Given the description of an element on the screen output the (x, y) to click on. 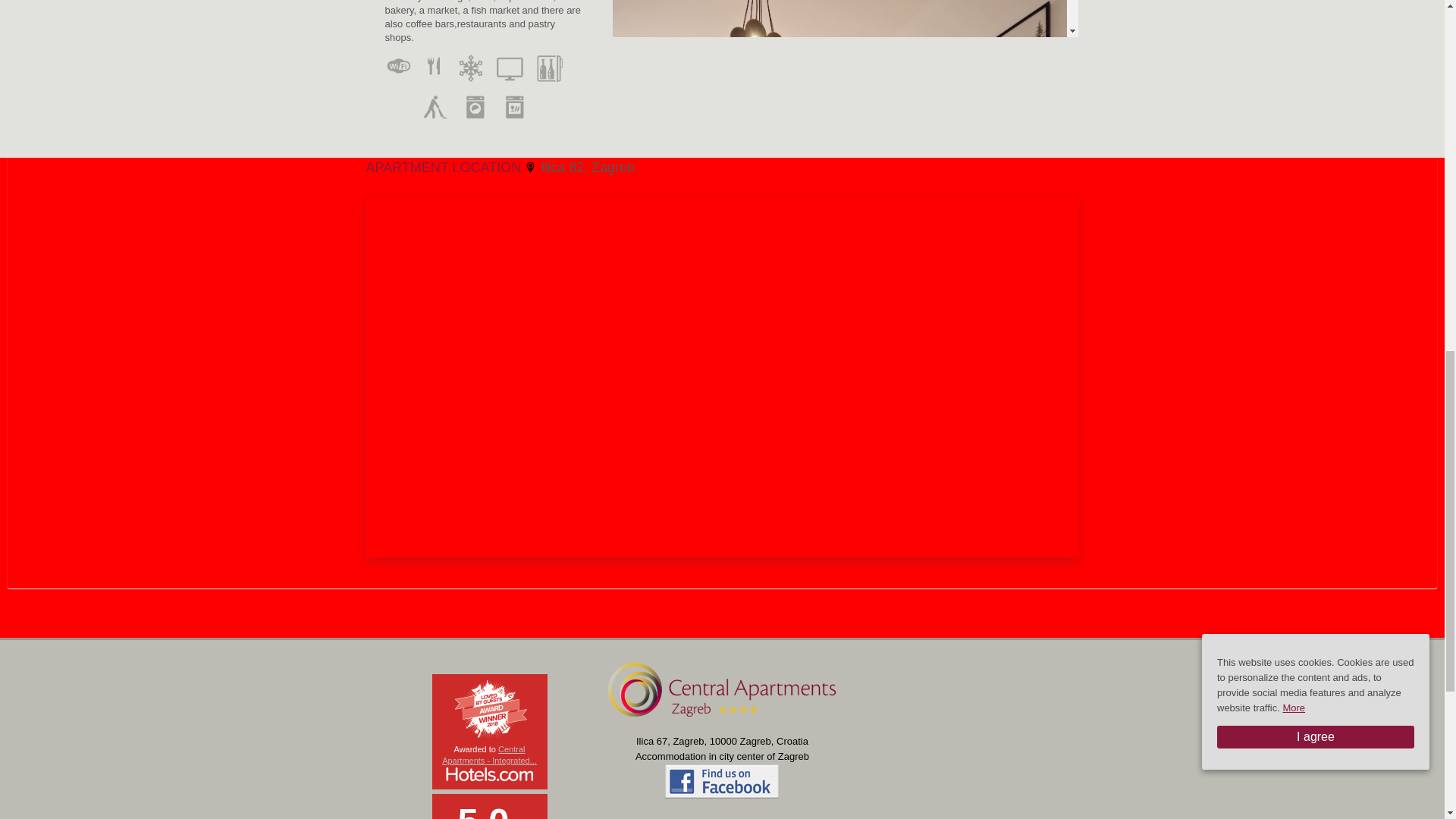
Central Apartments - Integrated hotel (489, 754)
Central Apartments - Integrated... (489, 754)
